Given the description of an element on the screen output the (x, y) to click on. 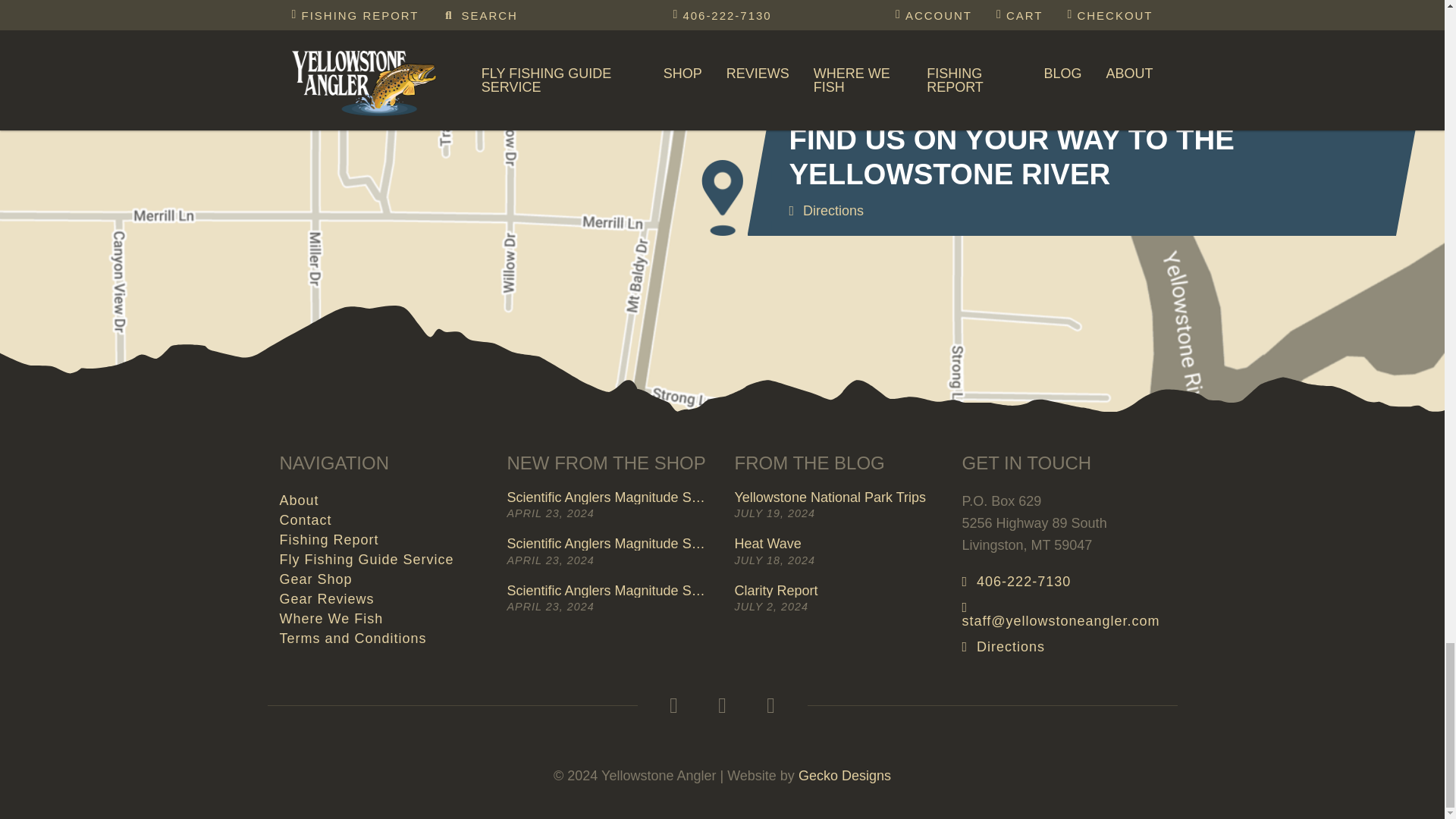
Facebook (673, 705)
YouTube (770, 705)
Instagram (721, 705)
